Given the description of an element on the screen output the (x, y) to click on. 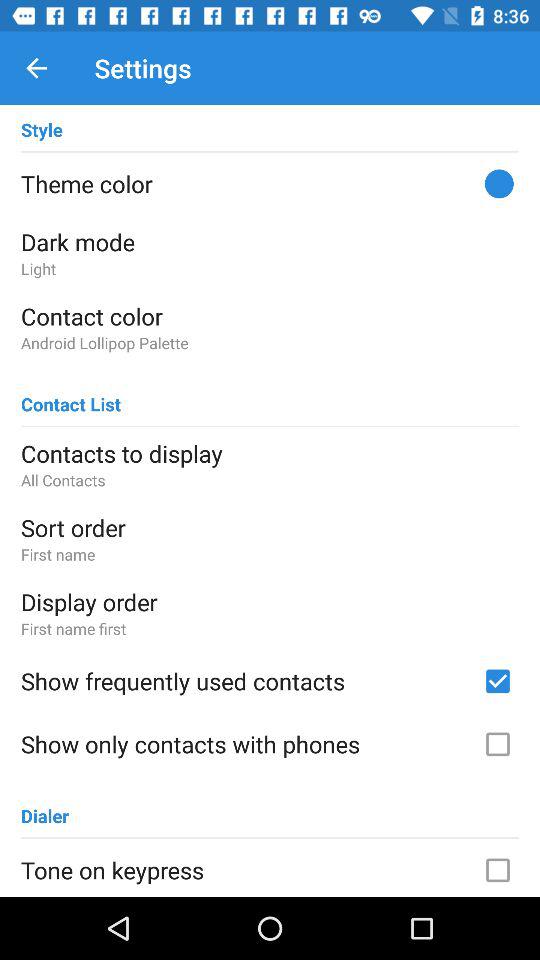
tap item to the left of the settings (36, 68)
